Given the description of an element on the screen output the (x, y) to click on. 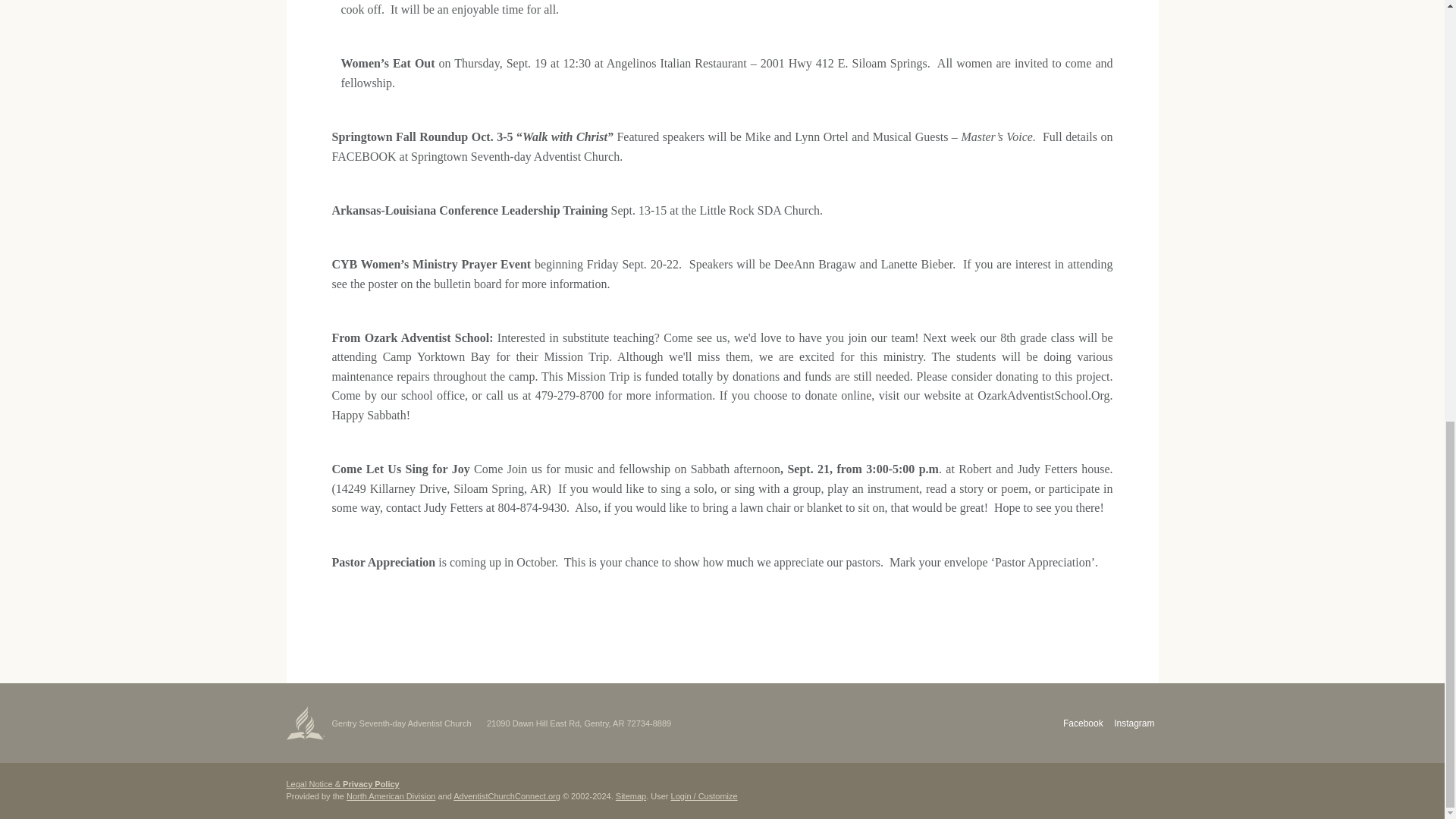
Facebook (1082, 723)
North American Division (390, 795)
Sitemap (630, 795)
Seventh-day Adventist Logo (305, 722)
AdventistChurchConnect.org (506, 795)
Instagram (1133, 723)
